Given the description of an element on the screen output the (x, y) to click on. 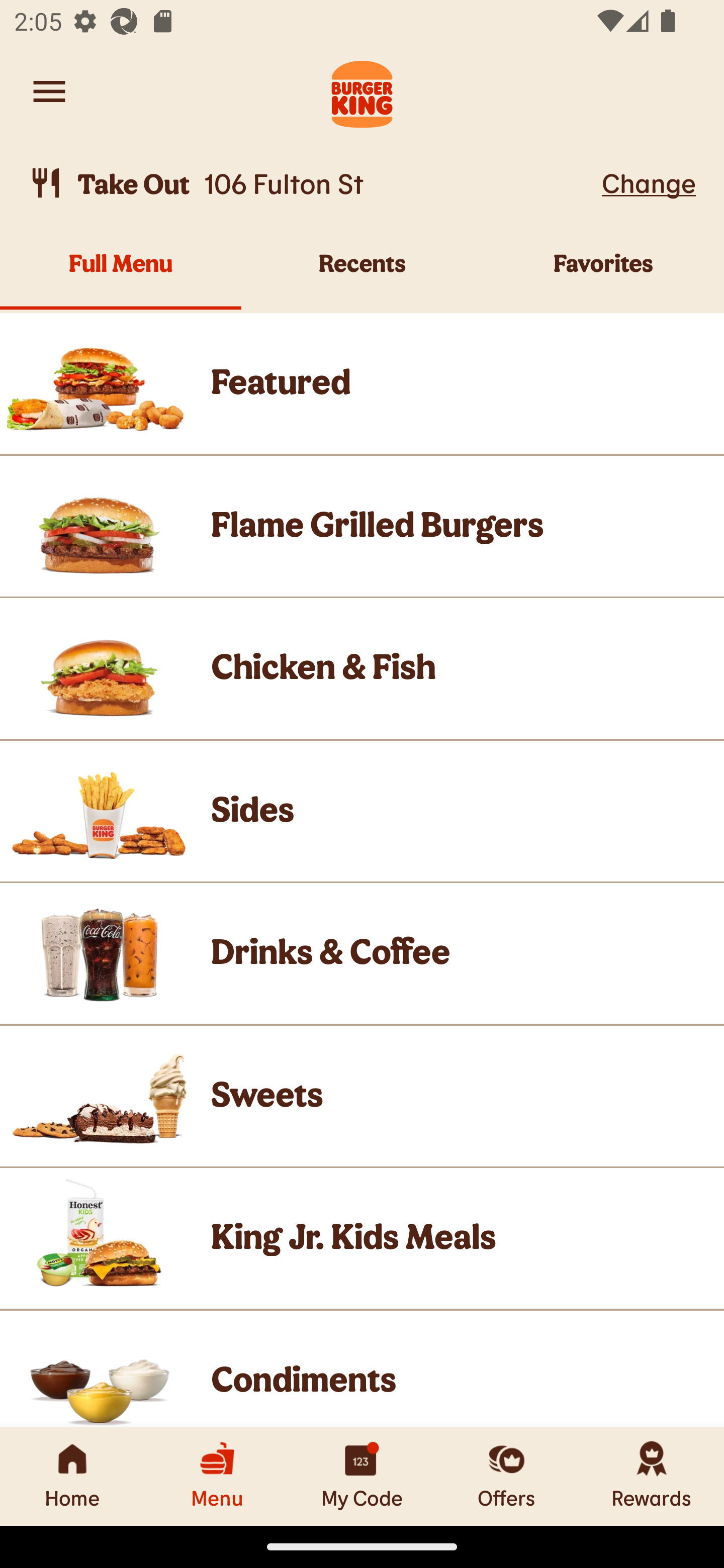
Burger King Logo. Navigate to Home (362, 91)
Navigate to account menu  (49, 91)
Take Out, 106 Fulton St  Take Out 106 Fulton St (311, 183)
Change (648, 182)
Full Menu (120, 273)
Recents (361, 273)
Favorites (603, 273)
Product Image, Featured Product Image Featured (362, 383)
Product Image, Sides Product Image Sides (362, 810)
Product Image, Sweets Product Image Sweets (362, 1095)
Product Image, Condiments Product Image Condiments (362, 1368)
Home (72, 1475)
Menu (216, 1475)
My Code (361, 1475)
Offers (506, 1475)
Rewards (651, 1475)
